Given the description of an element on the screen output the (x, y) to click on. 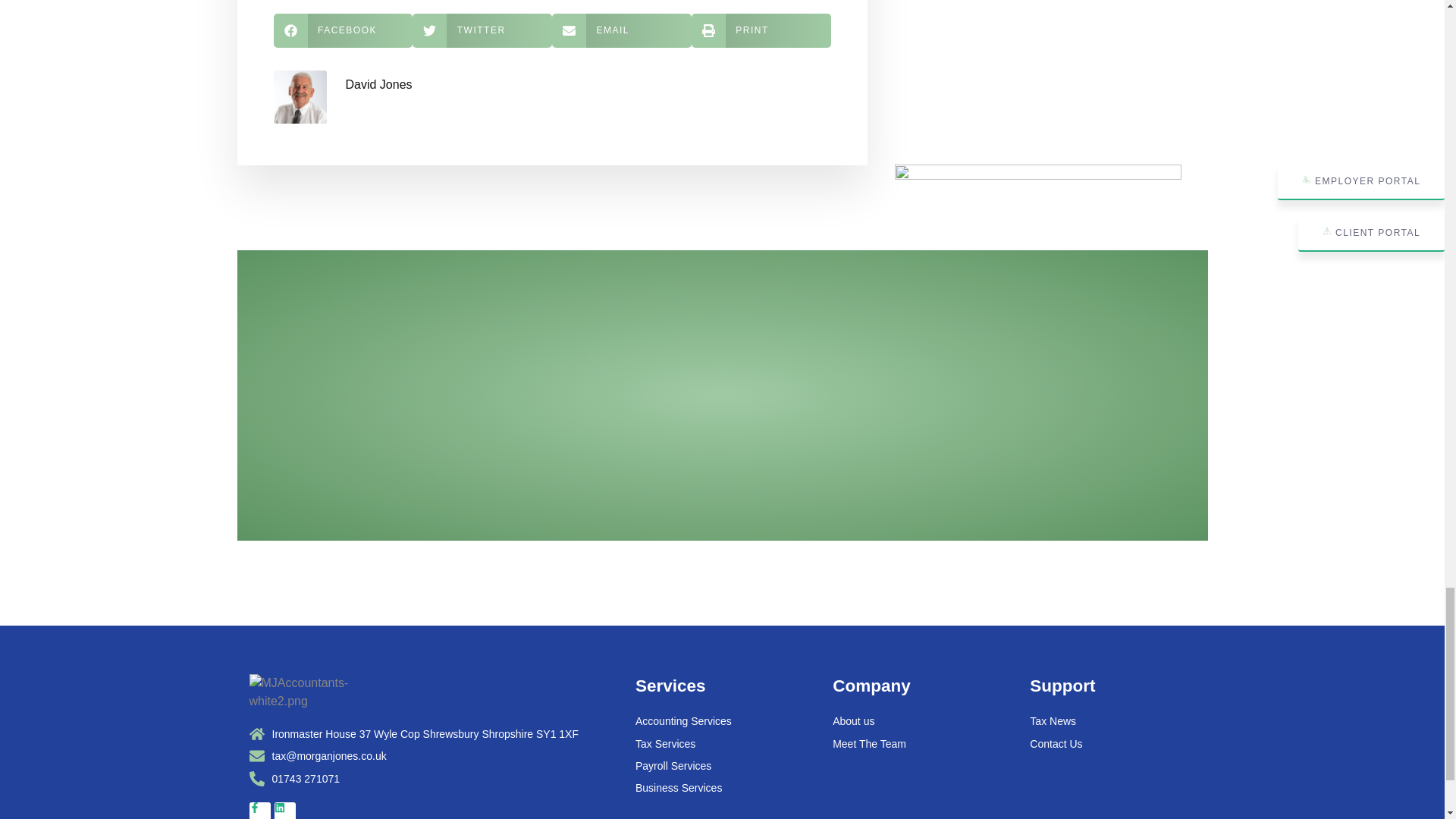
MJAccountants-white2.png (327, 692)
